Given the description of an element on the screen output the (x, y) to click on. 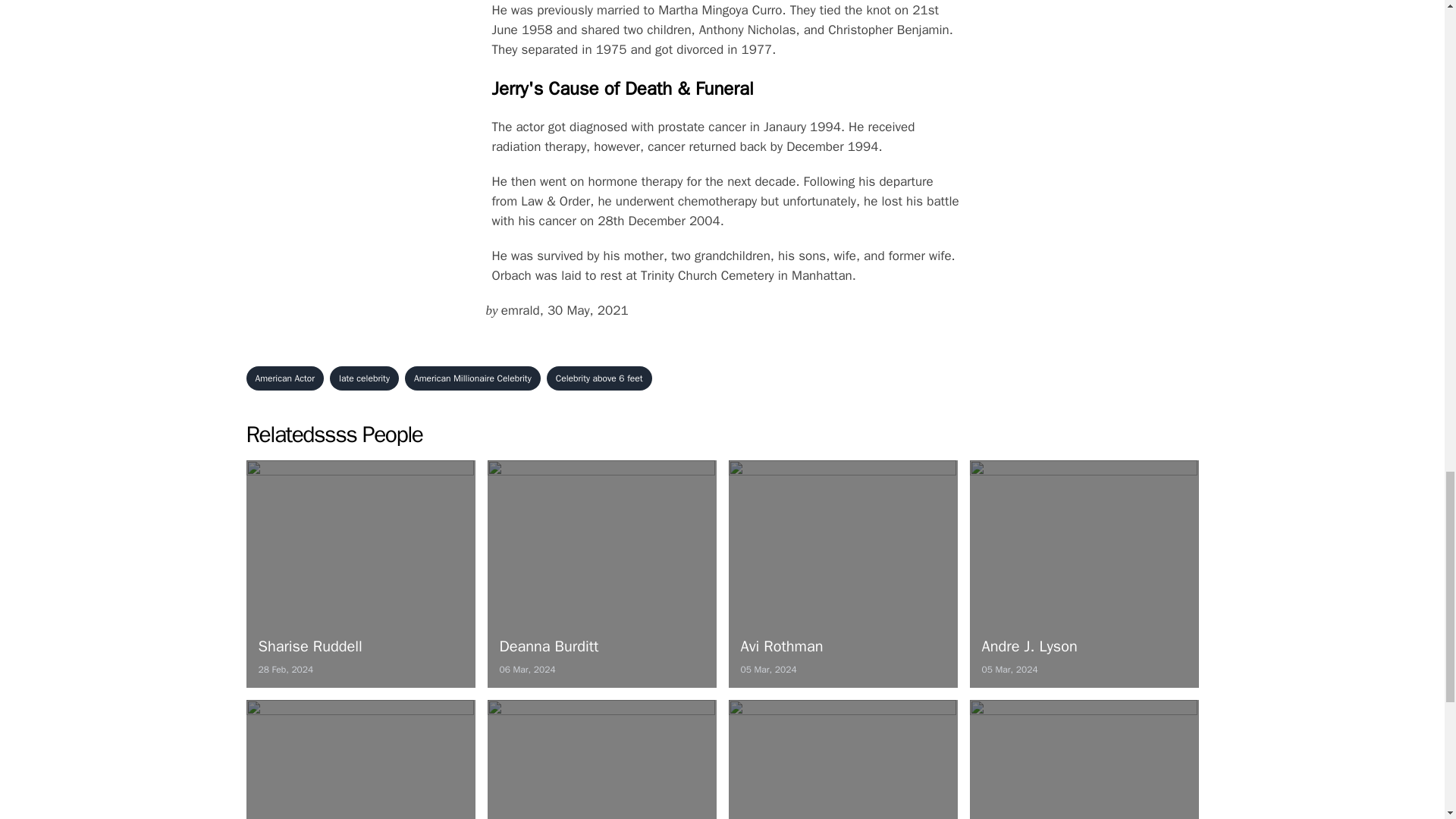
late celebrity (842, 573)
Celebrity above 6 feet (364, 378)
American Millionaire Celebrity (1083, 573)
American Actor (599, 378)
